Given the description of an element on the screen output the (x, y) to click on. 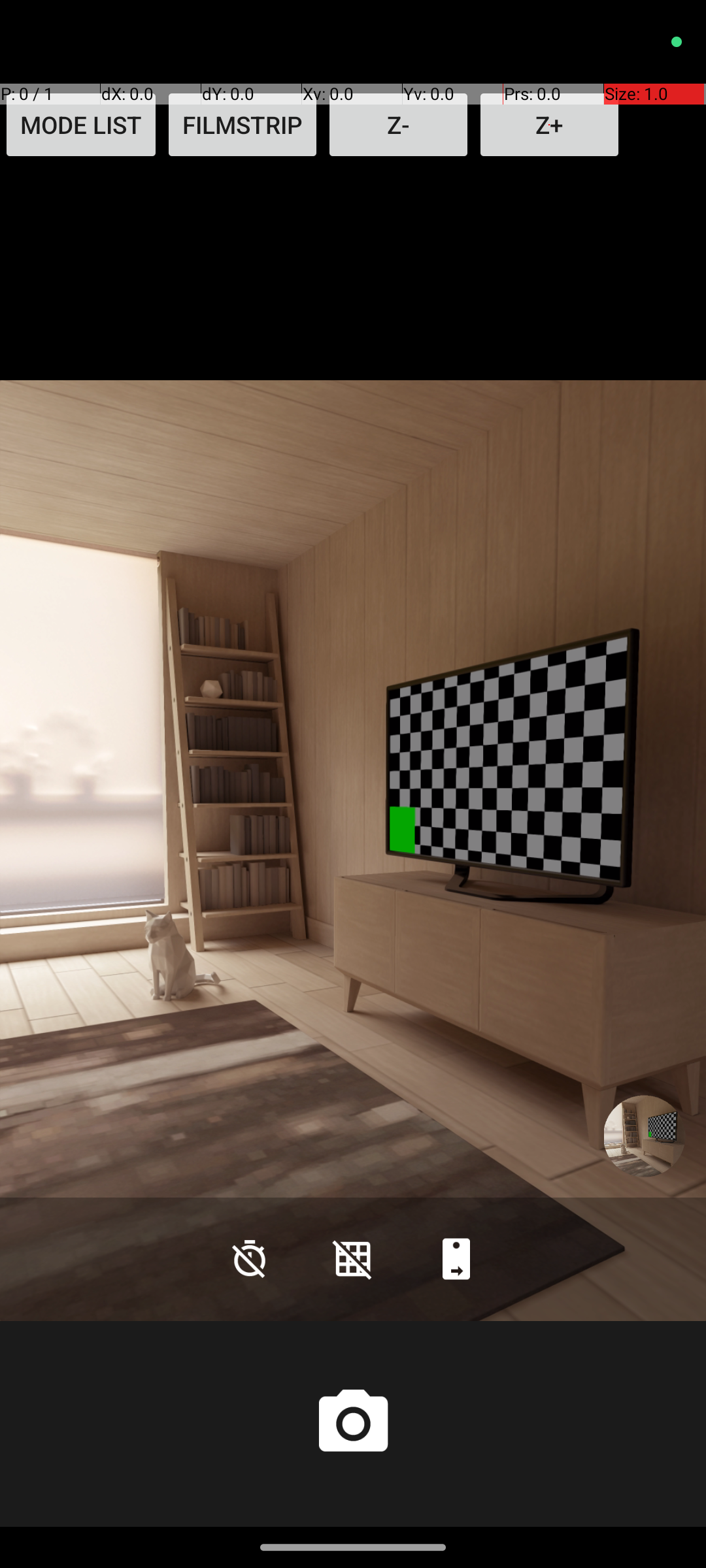
Countdown timer is off Element type: android.widget.ImageButton (249, 1258)
Grid lines off Element type: android.widget.ImageButton (352, 1258)
Back camera Element type: android.widget.ImageButton (456, 1258)
